Given the description of an element on the screen output the (x, y) to click on. 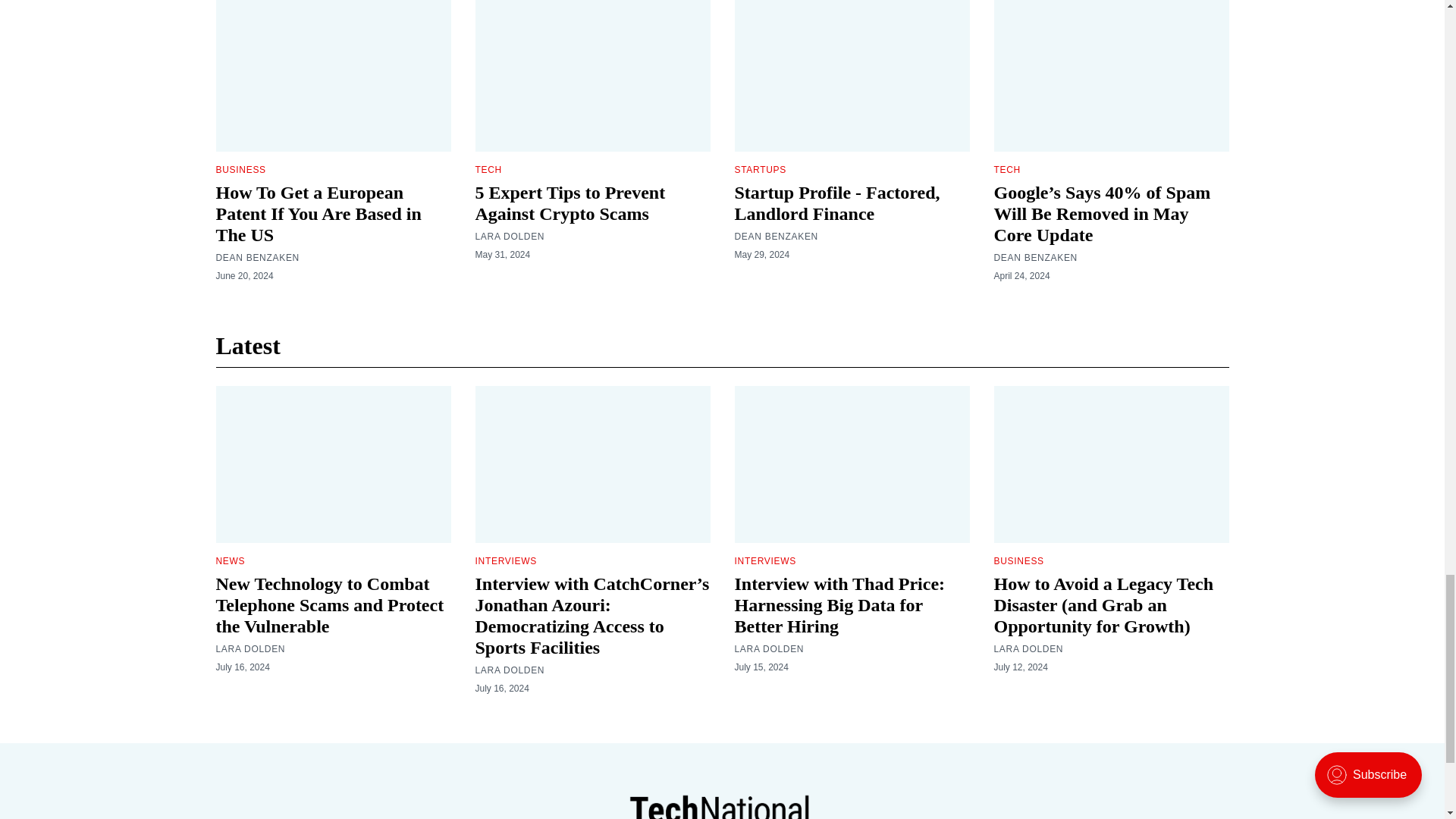
How To Get a European Patent If You Are Based in The US (317, 213)
LARA DOLDEN (509, 236)
DEAN BENZAKEN (774, 236)
STARTUPS (759, 169)
BUSINESS (239, 169)
TECH (1006, 169)
Startup Profile - Factored, Landlord Finance (836, 202)
5 Expert Tips to Prevent Against Crypto Scams (569, 202)
TECH (487, 169)
DEAN BENZAKEN (1034, 257)
DEAN BENZAKEN (256, 257)
